Given the description of an element on the screen output the (x, y) to click on. 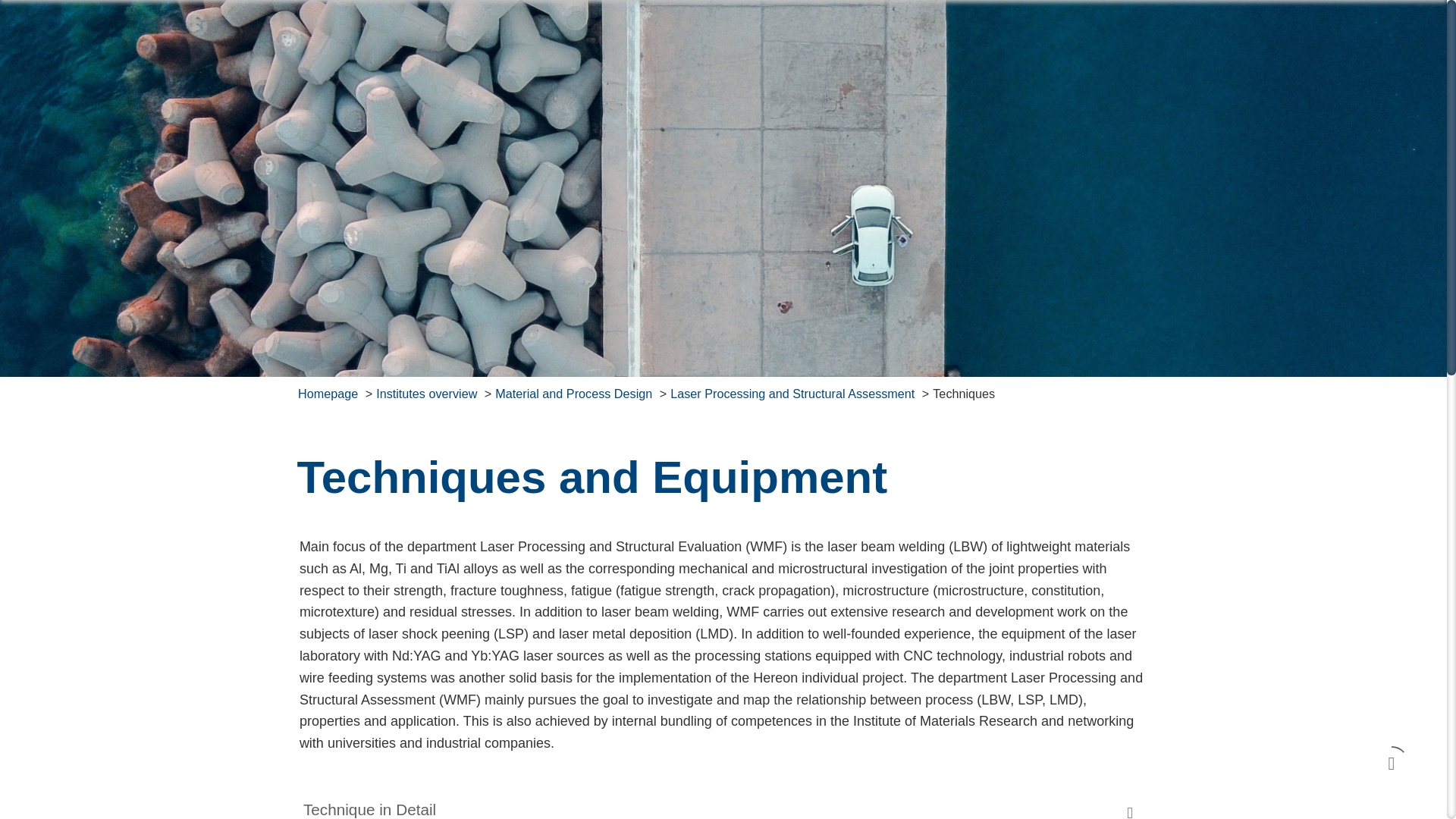
Click to scroll to top (1391, 763)
